Given the description of an element on the screen output the (x, y) to click on. 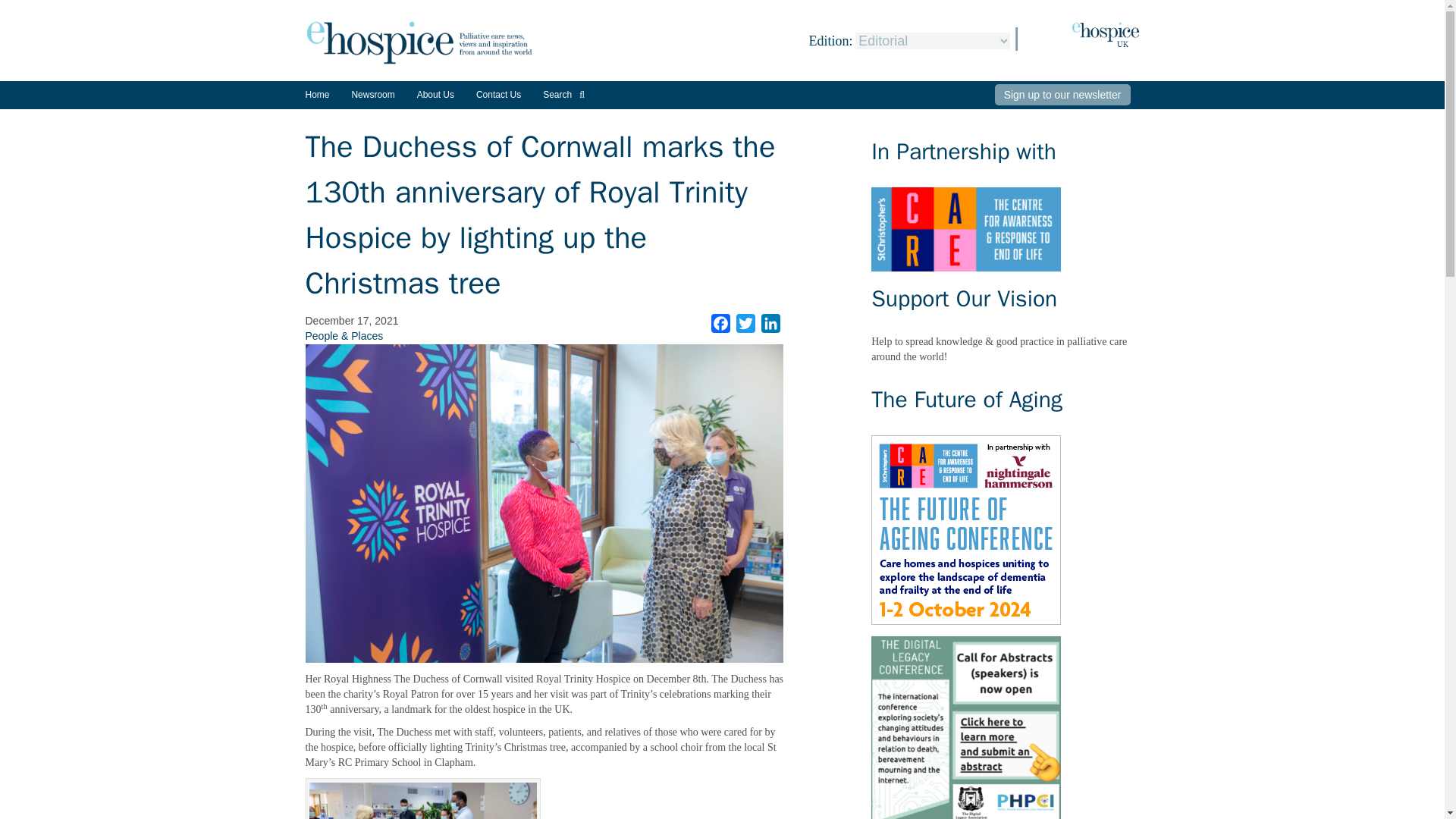
Contact Us (498, 94)
Facebook (720, 322)
Sign up to our newsletter (1062, 94)
LinkedIn (770, 322)
Twitter (745, 322)
About Us (435, 94)
Search (564, 94)
Home (316, 94)
Newsroom (372, 100)
